Given the description of an element on the screen output the (x, y) to click on. 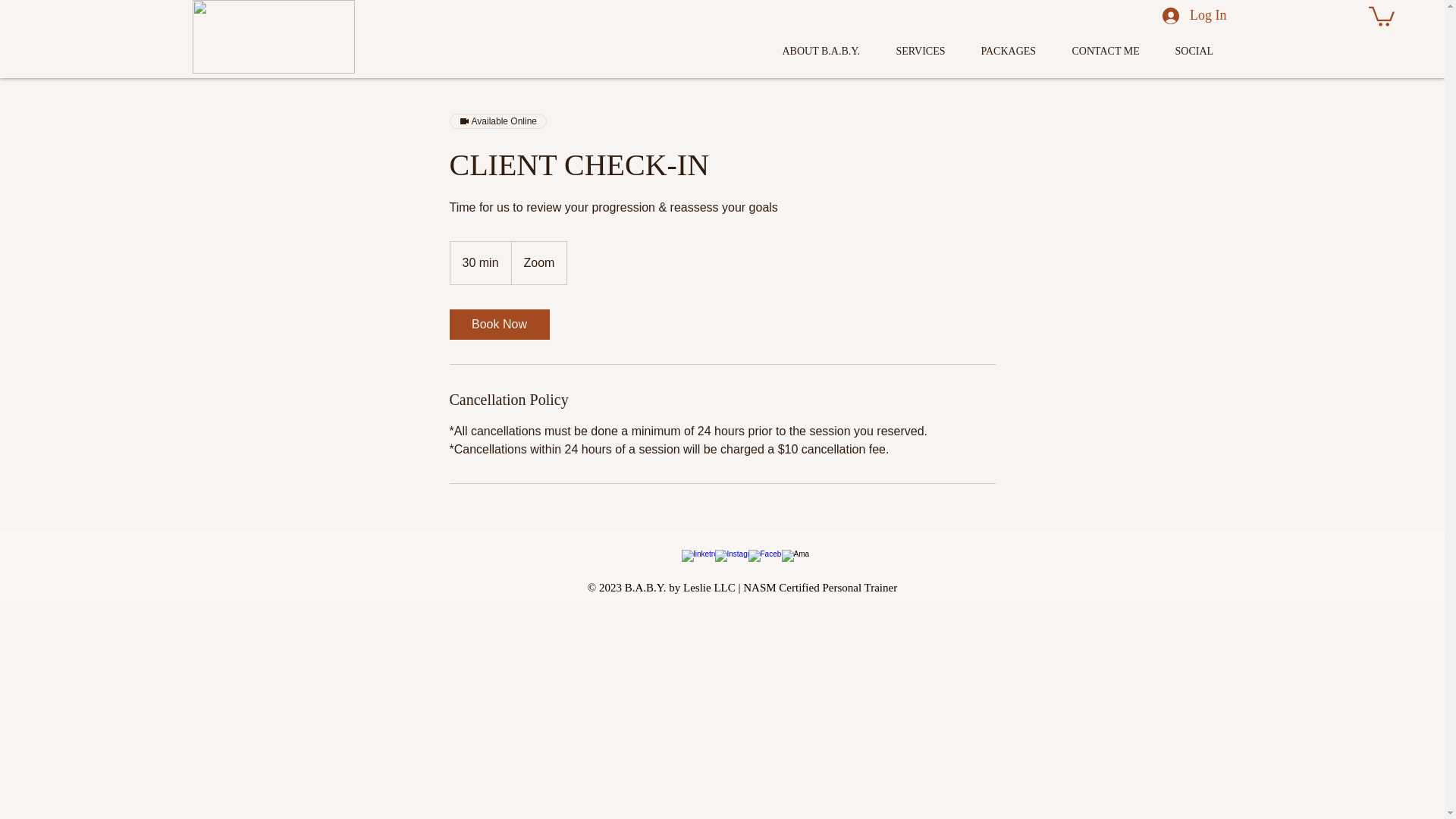
ABOUT B.A.B.Y. (826, 51)
PACKAGES (1014, 51)
Log In (1194, 16)
CONTACT ME (1111, 51)
SERVICES (926, 51)
Book Now (498, 324)
